Given the description of an element on the screen output the (x, y) to click on. 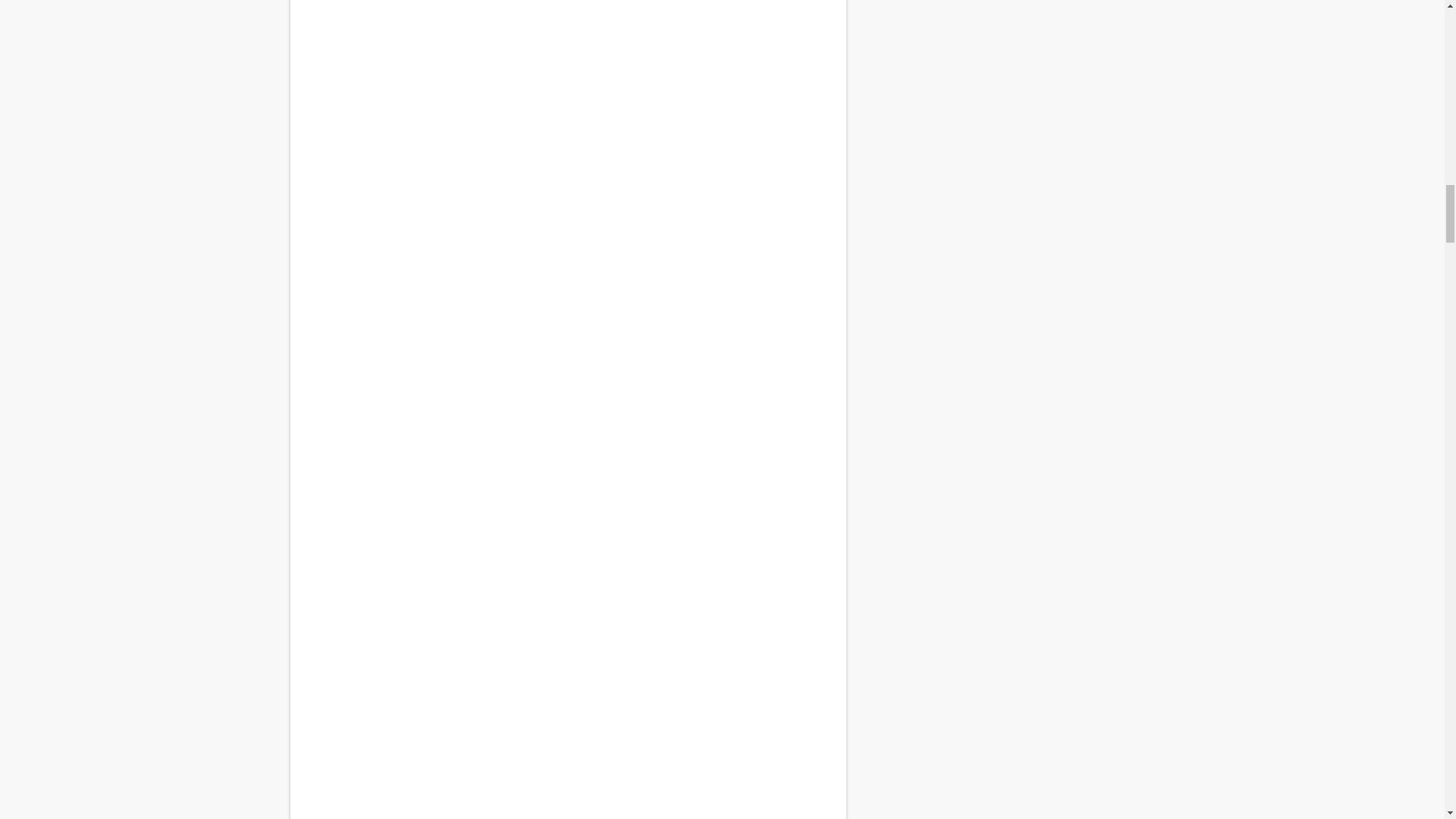
Learn Prepositions by Photos (567, 117)
Commonly confused words (567, 676)
